Given the description of an element on the screen output the (x, y) to click on. 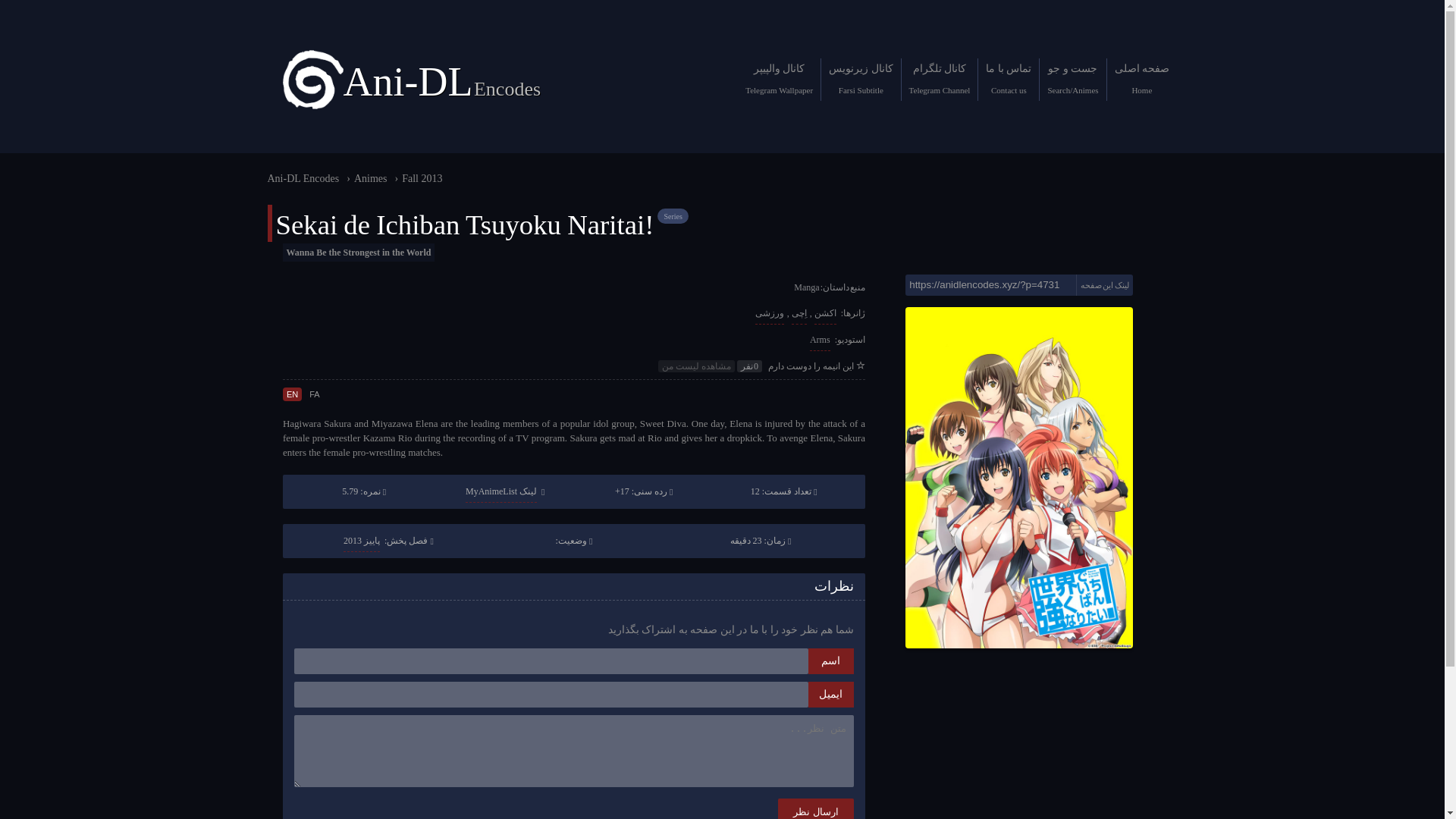
Series (672, 216)
Arms (819, 340)
Fall 2013 (421, 178)
FA (314, 394)
EN (291, 394)
Ani-DL Encodes (302, 178)
Animes (370, 178)
